Given the description of an element on the screen output the (x, y) to click on. 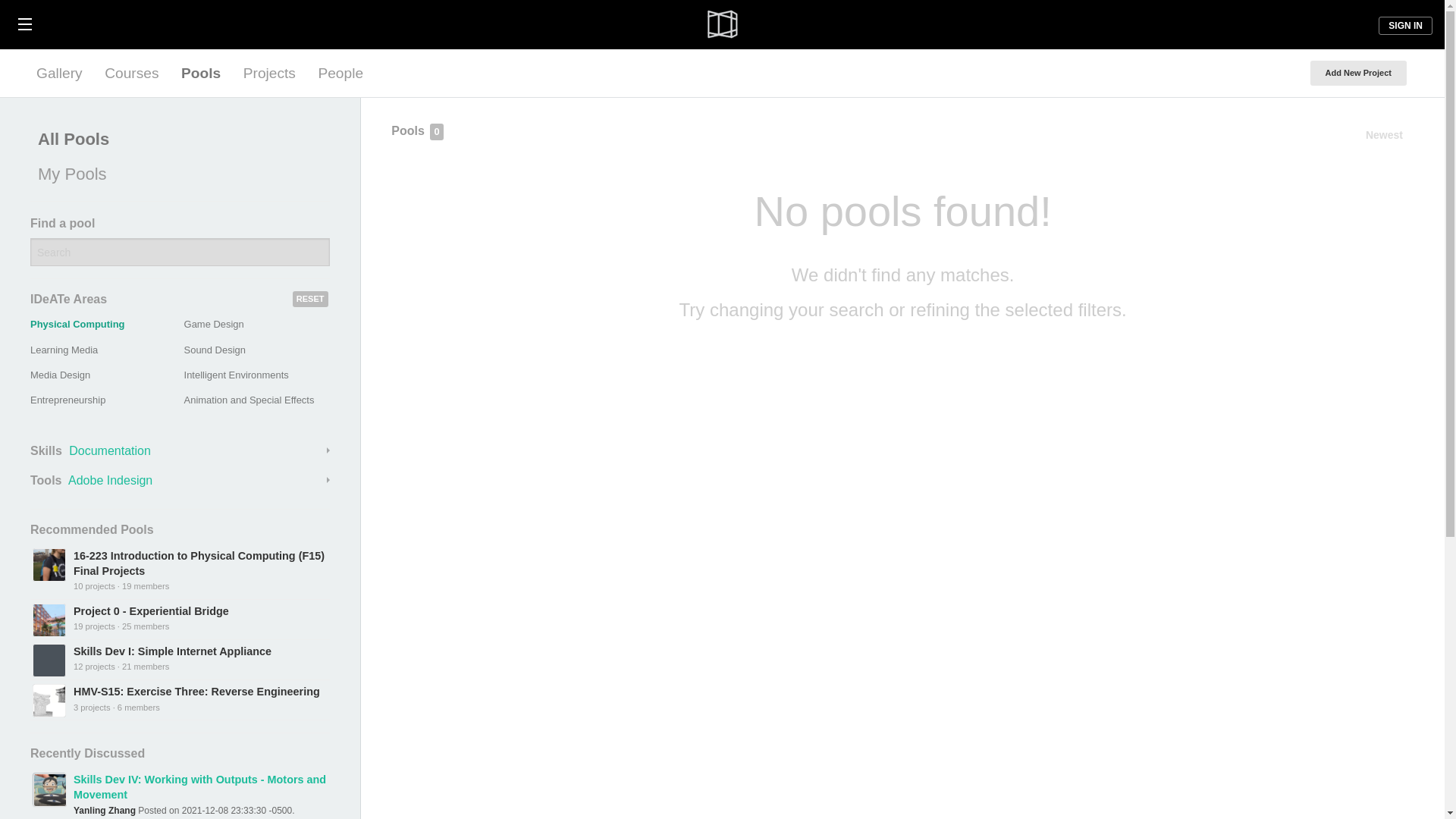
Gallery (59, 73)
All Pools (175, 139)
Skills Documentation (180, 451)
People (340, 73)
Add New Project (1358, 72)
My Pools (175, 174)
Learning Media (63, 349)
Pools (200, 73)
Intelligent Environments (236, 374)
Media Design (60, 374)
Courses (131, 73)
RESET (310, 299)
Sound Design (215, 349)
SIGN IN (1405, 25)
Animation and Special Effects (249, 399)
